Given the description of an element on the screen output the (x, y) to click on. 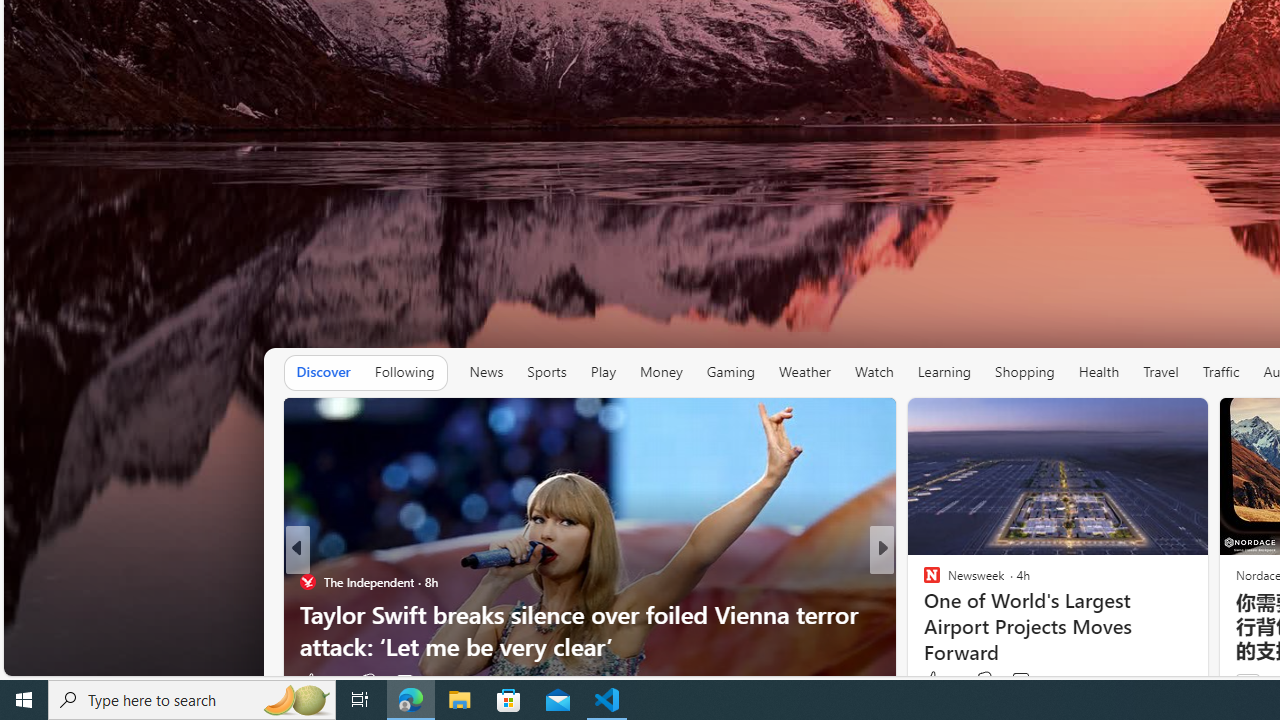
View comments 33 Comment (404, 681)
View comments 22 Comment (1029, 681)
View comments 5 Comment (1026, 681)
View comments 2 Comment (1019, 681)
214 Like (320, 681)
129 Like (936, 681)
View comments 22 Comment (1019, 681)
View comments 20 Comment (1014, 681)
